Given the description of an element on the screen output the (x, y) to click on. 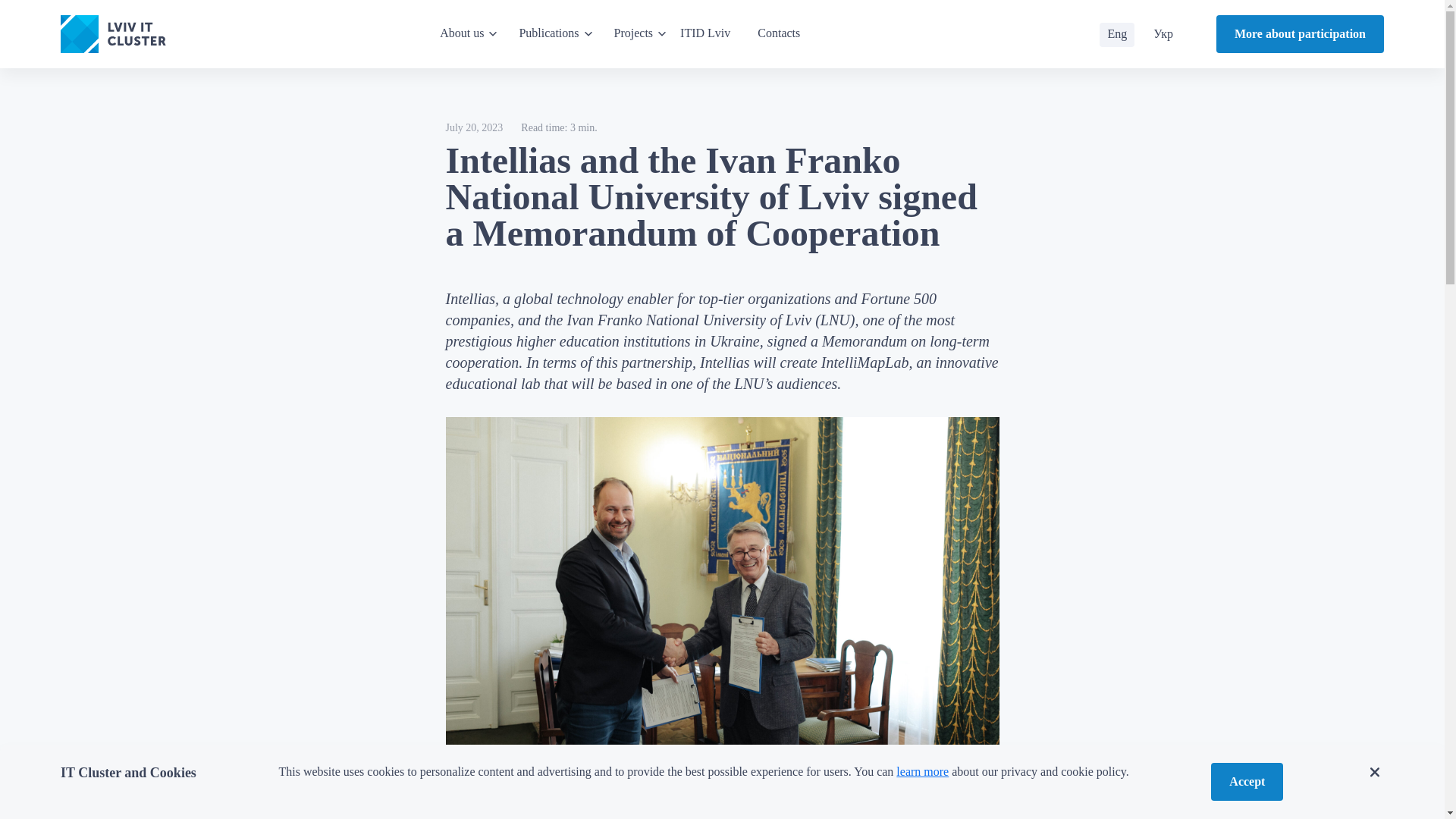
About us (468, 33)
Projects (641, 33)
Publications (555, 33)
